Given the description of an element on the screen output the (x, y) to click on. 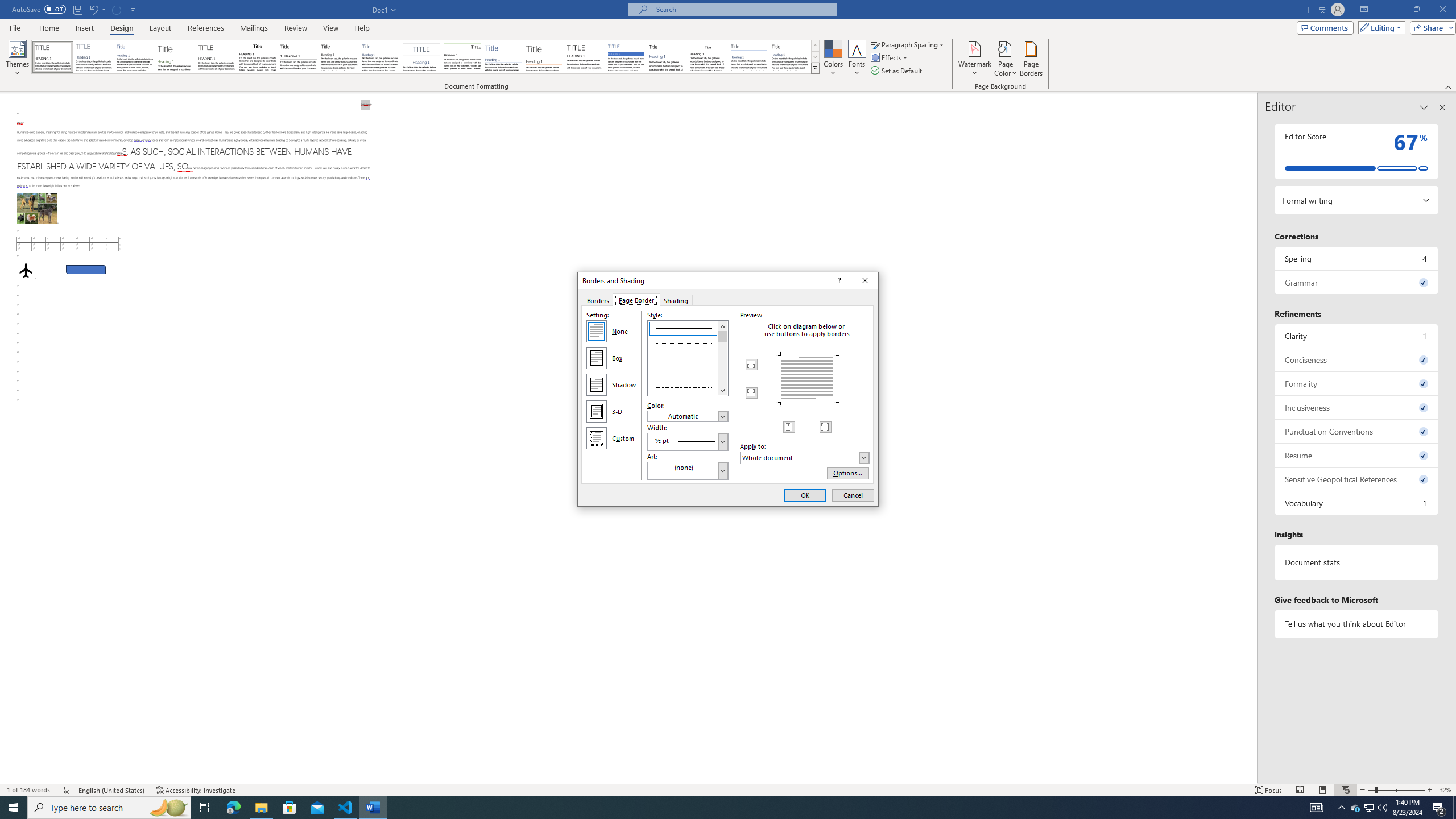
OK (805, 495)
Minimalist (584, 56)
Style Set (814, 67)
Task View (204, 807)
Watermark (974, 58)
Lines (Distinctive) (462, 56)
Undo Paragraph Alignment (96, 9)
Document statistics (1356, 561)
Basic (Stylish) (175, 56)
Page Border (635, 299)
